Given the description of an element on the screen output the (x, y) to click on. 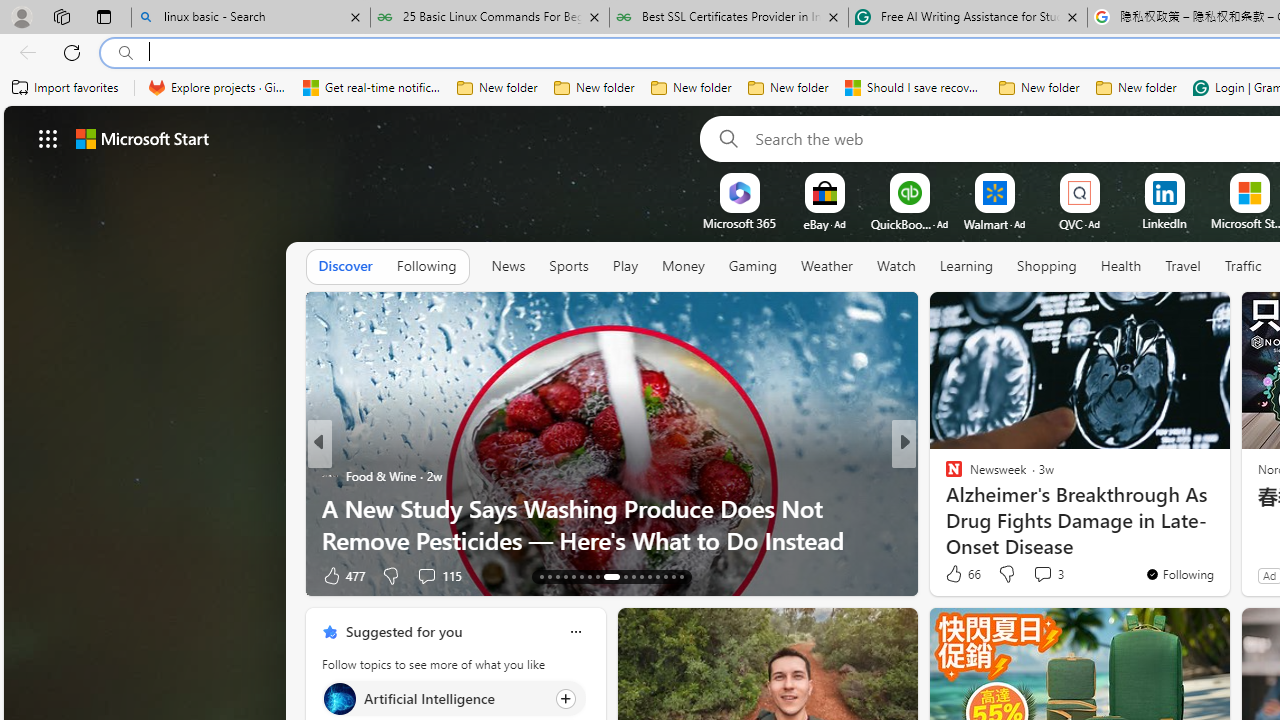
View comments 16 Comment (1051, 574)
View comments 26 Comment (435, 574)
AutomationID: tab-25 (649, 576)
View comments 16 Comment (1042, 575)
View comments 2 Comment (1036, 575)
AutomationID: tab-15 (556, 576)
AutomationID: tab-17 (573, 576)
AutomationID: tab-13 (541, 576)
linux basic - Search (250, 17)
New folder (1136, 88)
AutomationID: tab-22 (621, 576)
Ad Choice (287, 575)
